Given the description of an element on the screen output the (x, y) to click on. 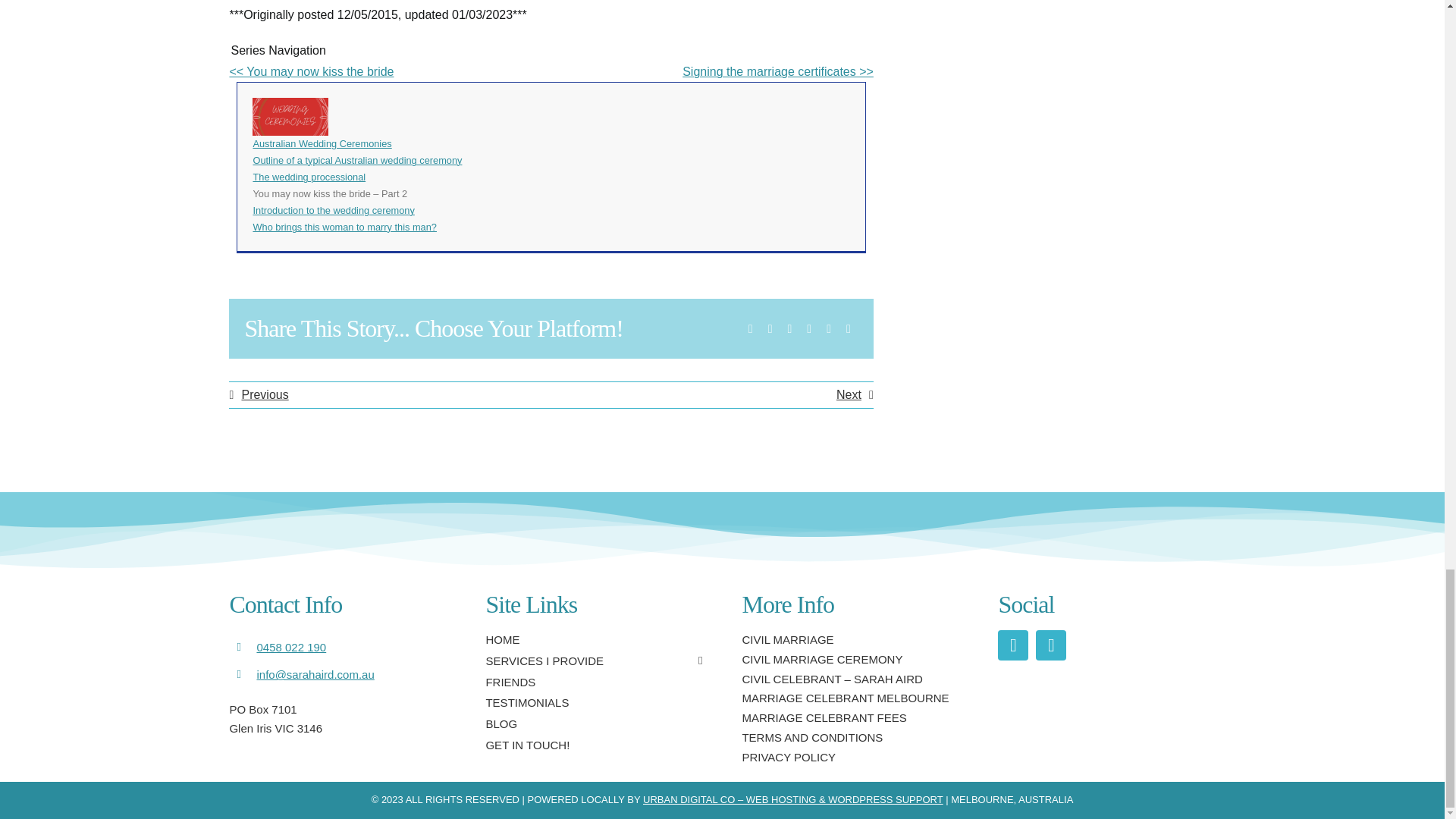
Australian Wedding Ceremonies (321, 143)
The wedding processional (308, 176)
Outline of a typical Australian wedding ceremony (356, 160)
